Given the description of an element on the screen output the (x, y) to click on. 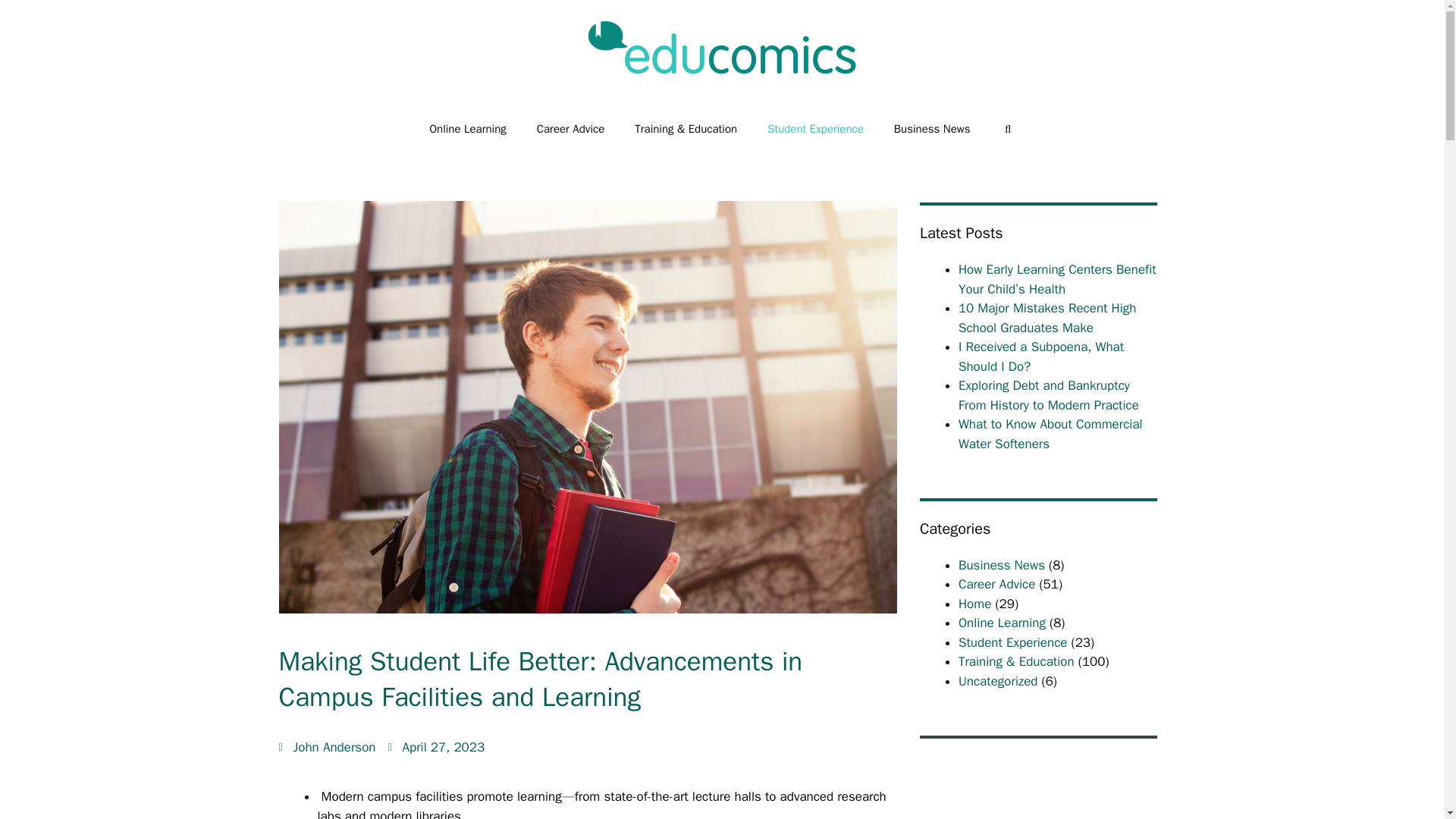
Student Experience (1012, 641)
Business News (932, 128)
Online Learning (1001, 622)
Career Advice (570, 128)
Business News (1001, 564)
10 Major Mistakes Recent High School Graduates Make (1047, 317)
Online Learning (467, 128)
I Received a Subpoena, What Should I Do? (1041, 356)
What to Know About Commercial Water Softeners (1050, 434)
